Given the description of an element on the screen output the (x, y) to click on. 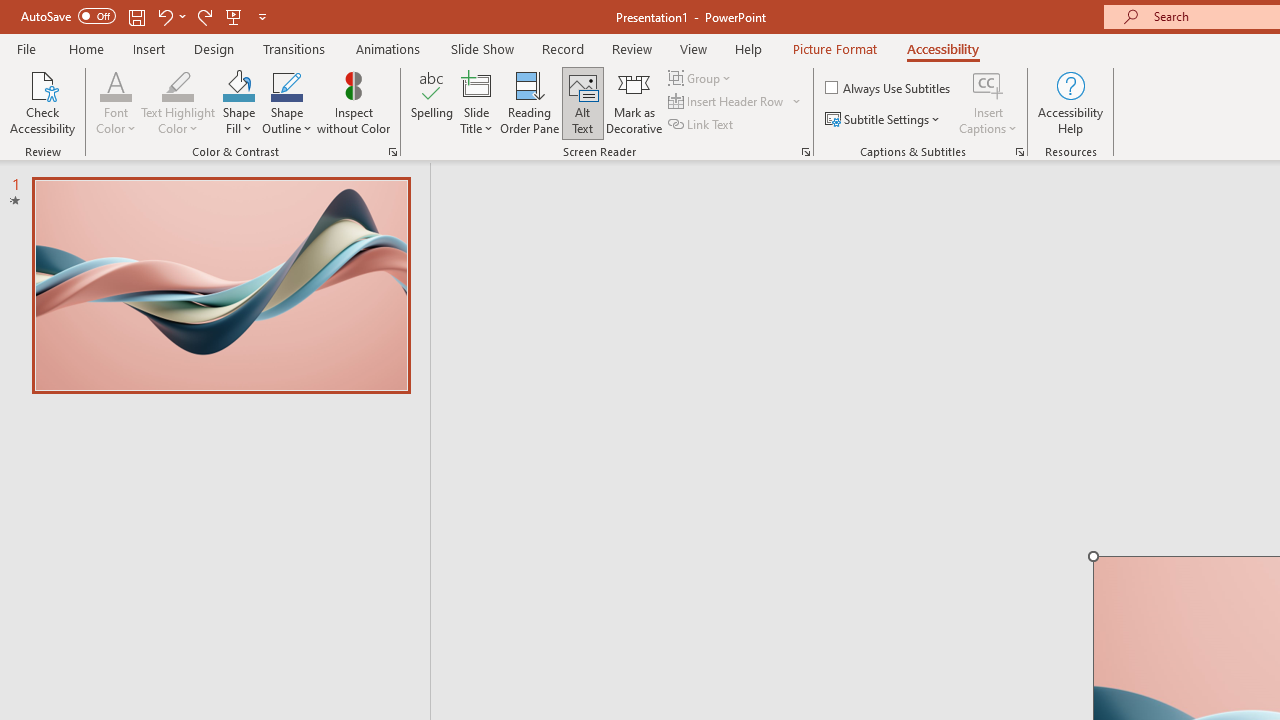
Color & Contrast (392, 151)
